Given the description of an element on the screen output the (x, y) to click on. 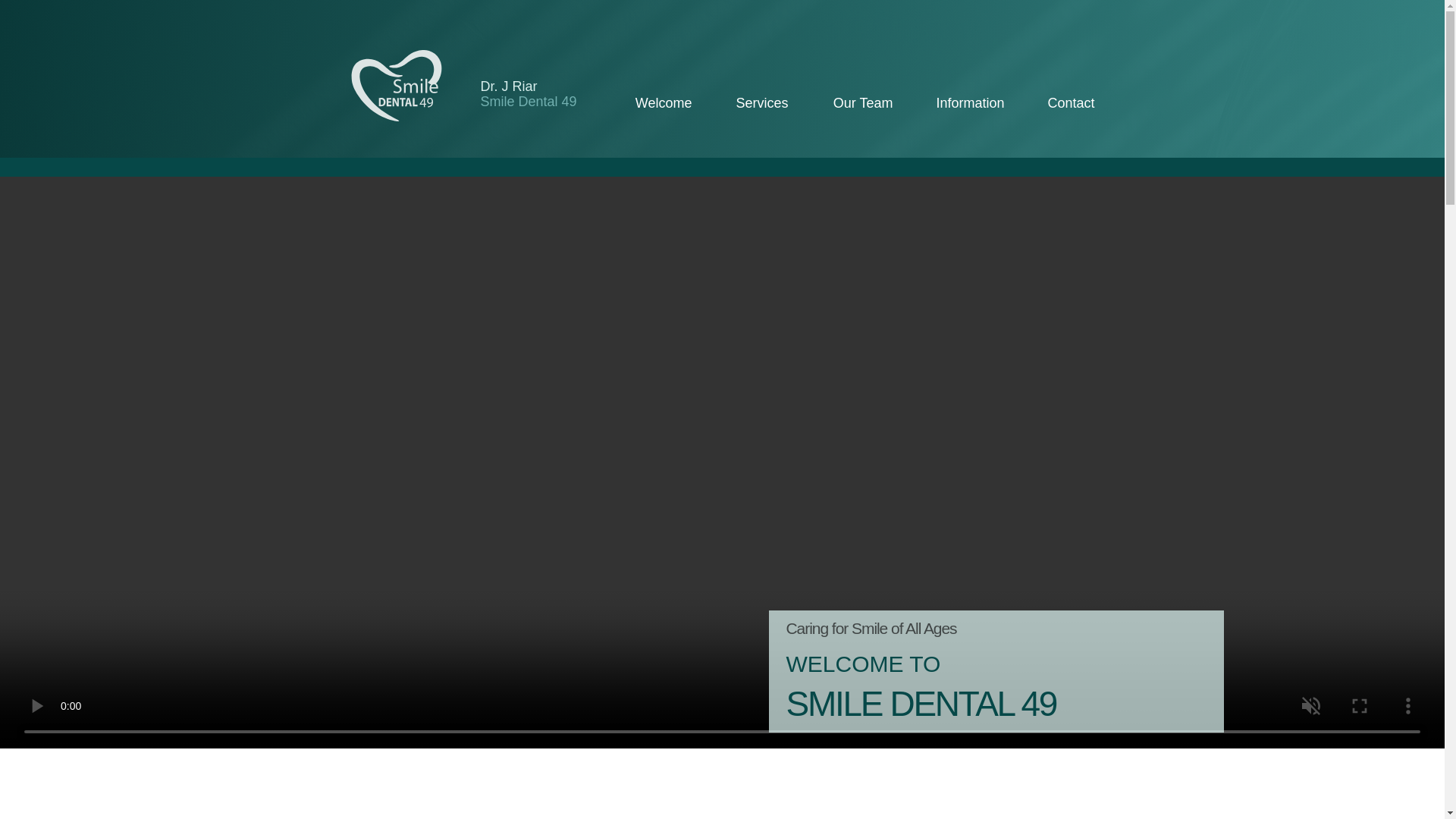
Information (959, 103)
Our Team (851, 103)
Smile Dental 49 (528, 101)
Contact (1061, 103)
Welcome (652, 103)
Dr. J Riar (508, 86)
Services (751, 103)
